Given the description of an element on the screen output the (x, y) to click on. 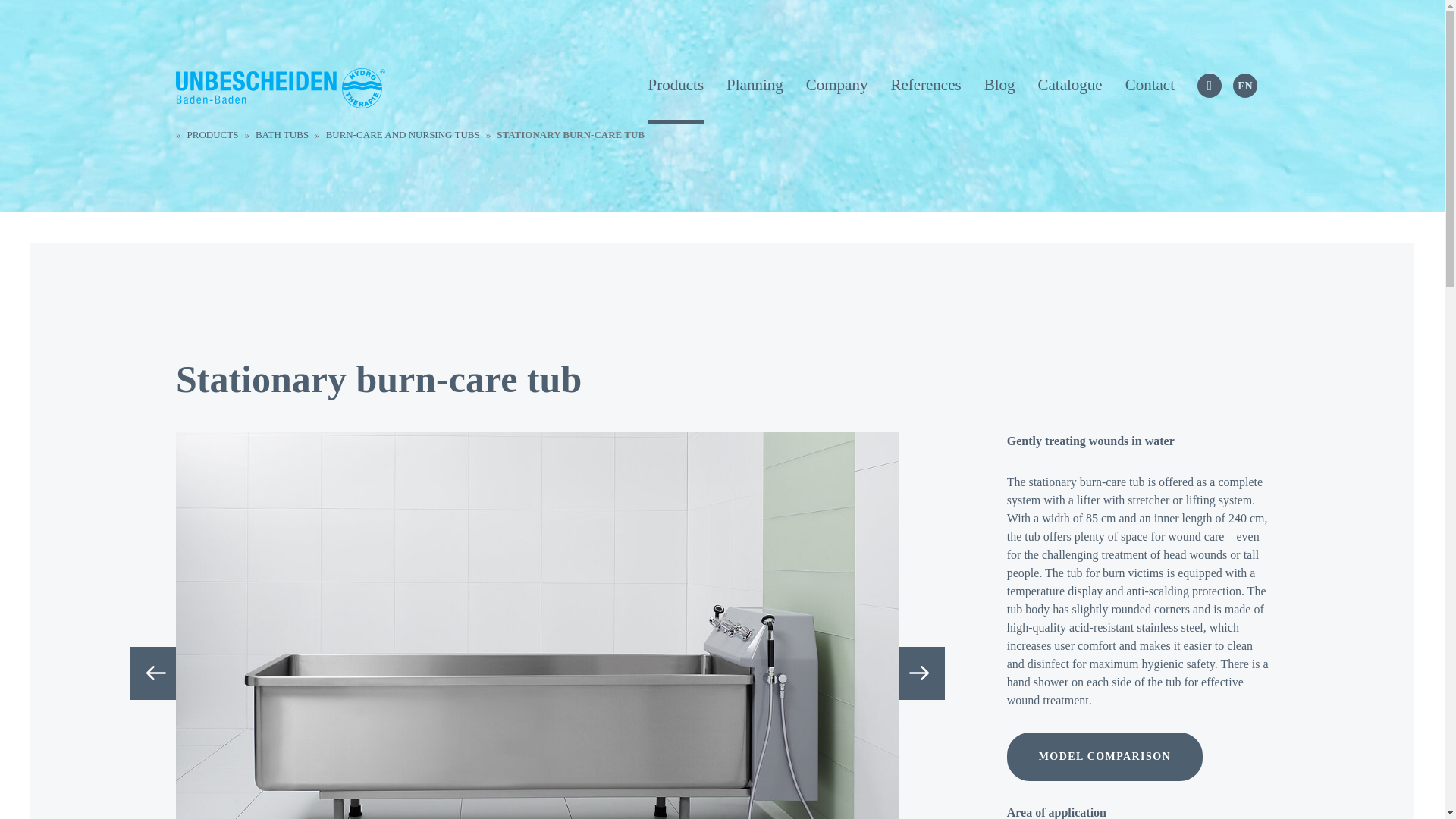
References (924, 98)
EN (1245, 85)
Company (836, 98)
Contact (1149, 98)
Planning (754, 98)
Products (675, 98)
Catalogue (1070, 98)
Blog (999, 98)
